Given the description of an element on the screen output the (x, y) to click on. 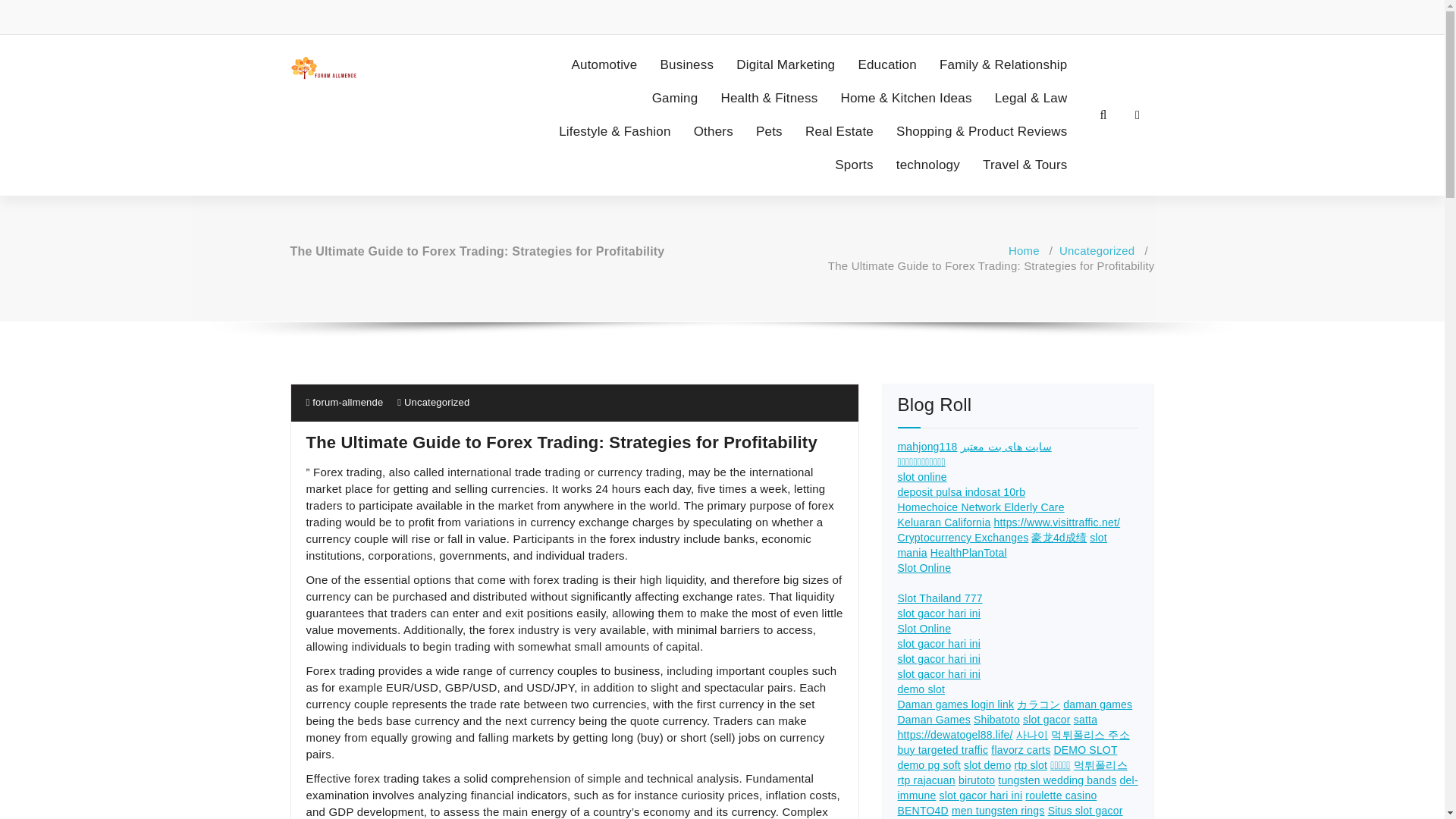
Pets (769, 131)
Gaming (675, 98)
Automotive (603, 64)
Digital Marketing (785, 64)
technology (928, 164)
Sports (853, 164)
Education (886, 64)
Others (713, 131)
Business (687, 64)
Real Estate (838, 131)
